Given the description of an element on the screen output the (x, y) to click on. 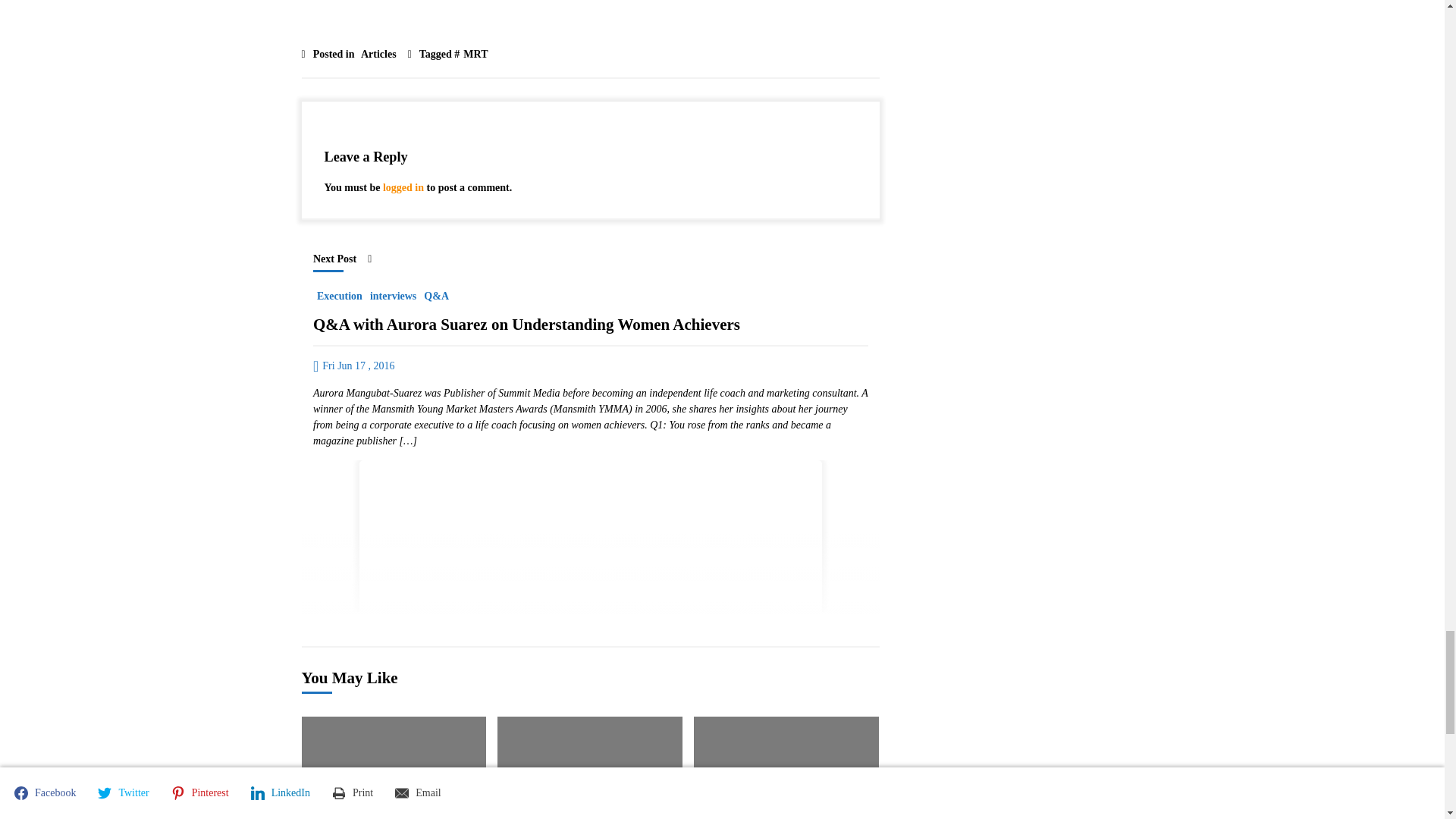
Share on Email (713, 3)
Share on Facebook (341, 3)
Share on Pinterest (496, 3)
Share on Twitter (419, 3)
Share on LinkedIn (575, 3)
Share on Print (648, 3)
